Given the description of an element on the screen output the (x, y) to click on. 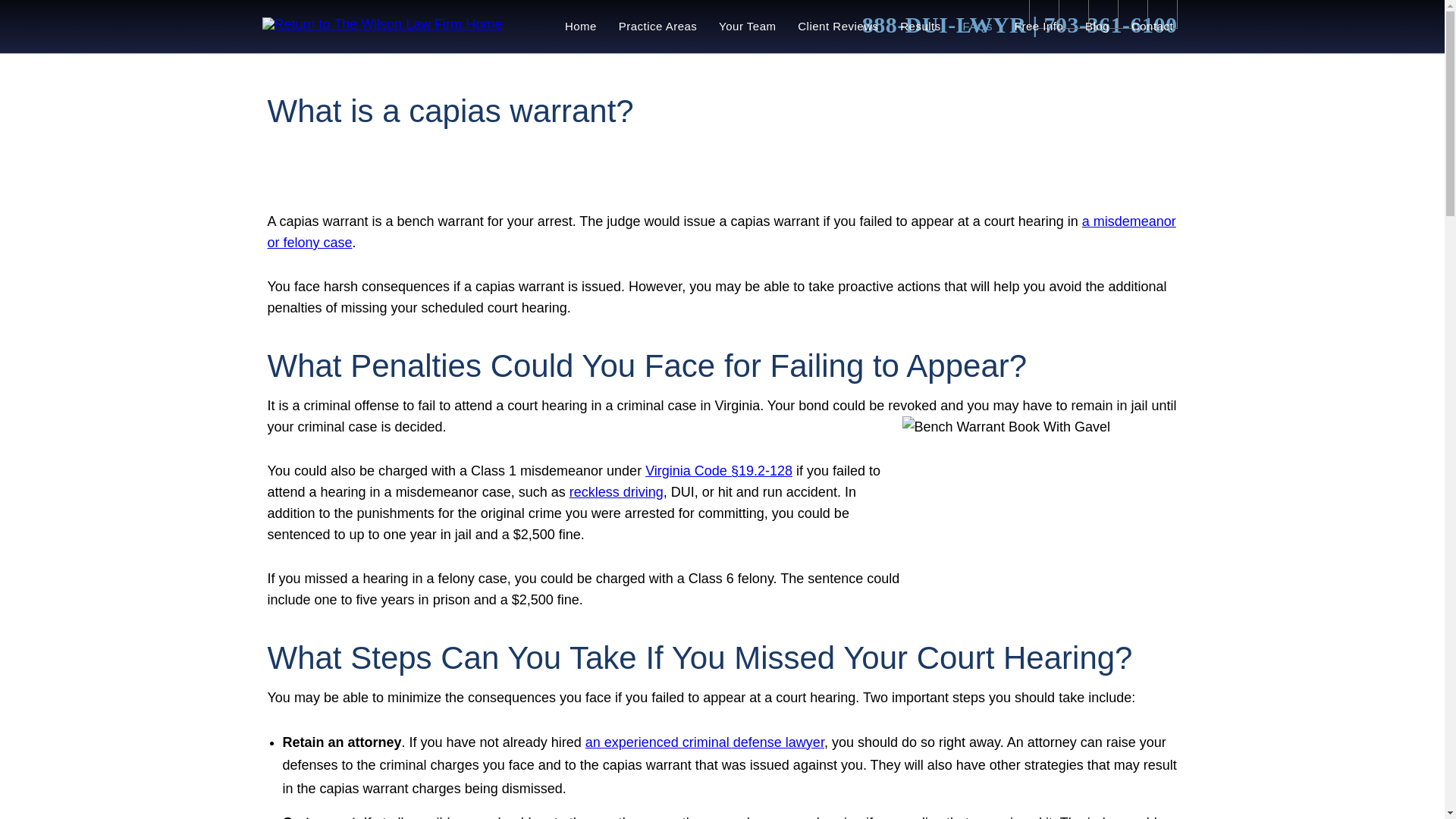
Practice Areas (657, 26)
a misdemeanor or felony case (720, 231)
an experienced criminal defense lawyer (704, 742)
Client Reviews (838, 26)
FAQs (977, 26)
Your Team (747, 26)
Free Info (1038, 26)
reckless driving (616, 491)
Results (920, 26)
Contact (1151, 26)
Home (580, 26)
